Given the description of an element on the screen output the (x, y) to click on. 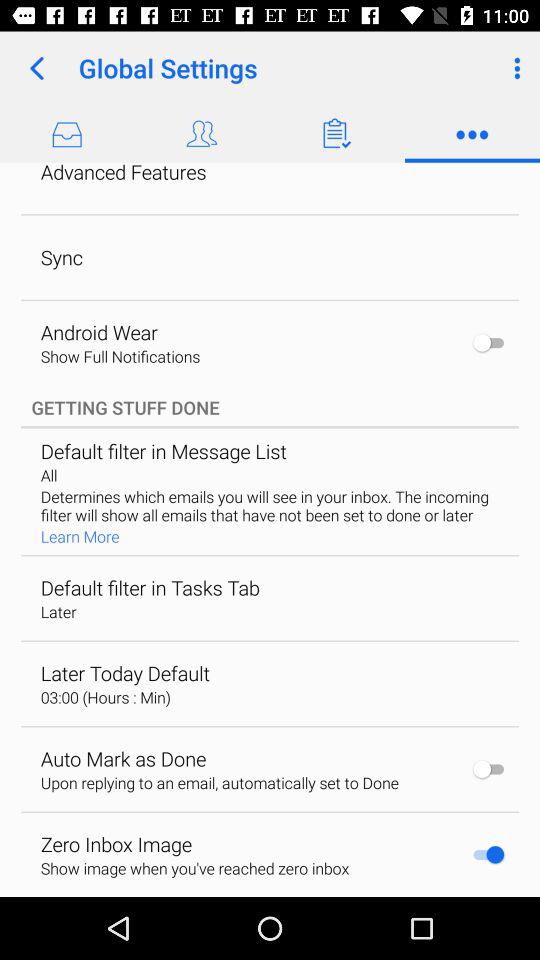
swipe to the show image when icon (194, 867)
